Given the description of an element on the screen output the (x, y) to click on. 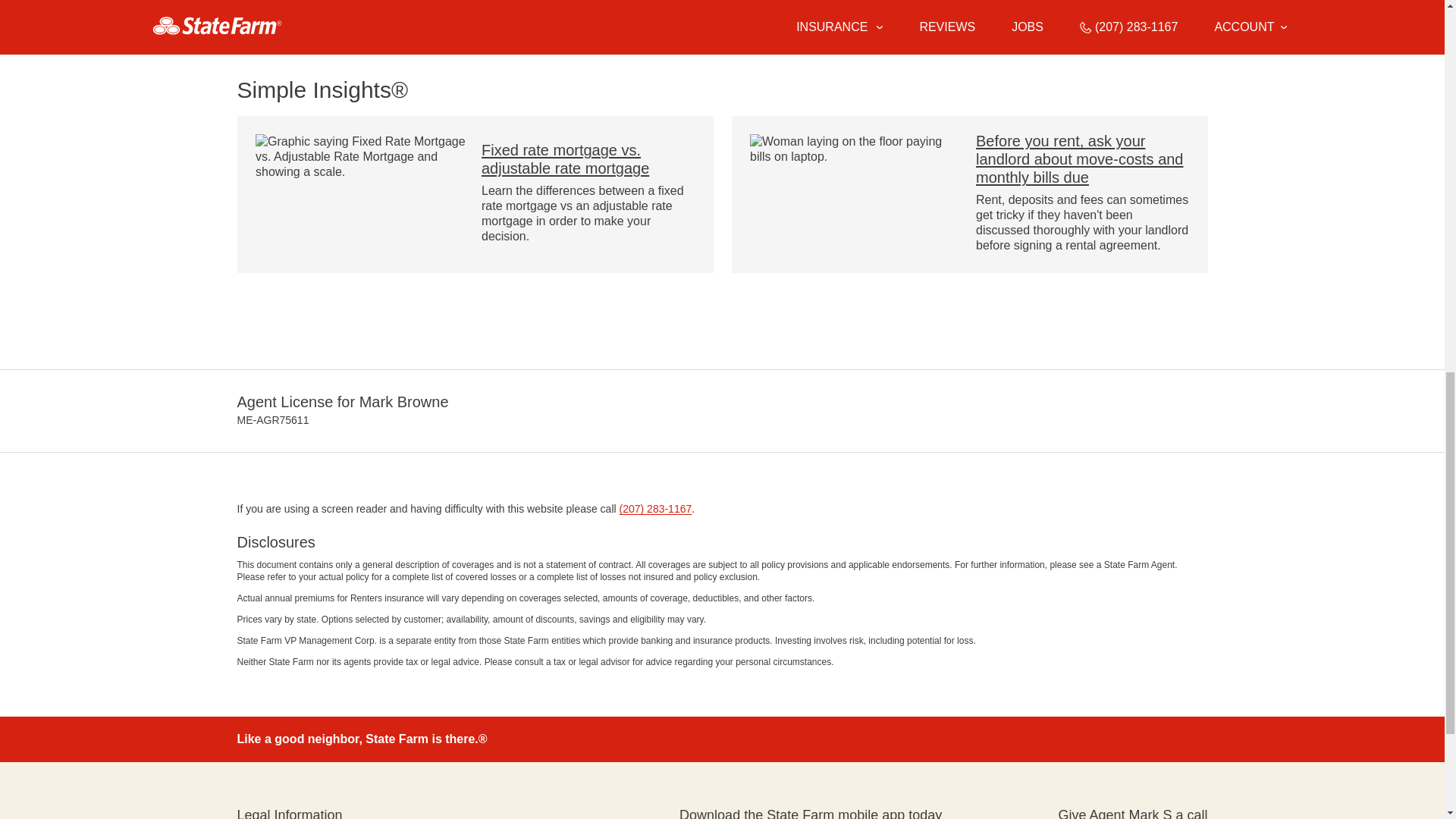
FAQ page (489, 19)
